Given the description of an element on the screen output the (x, y) to click on. 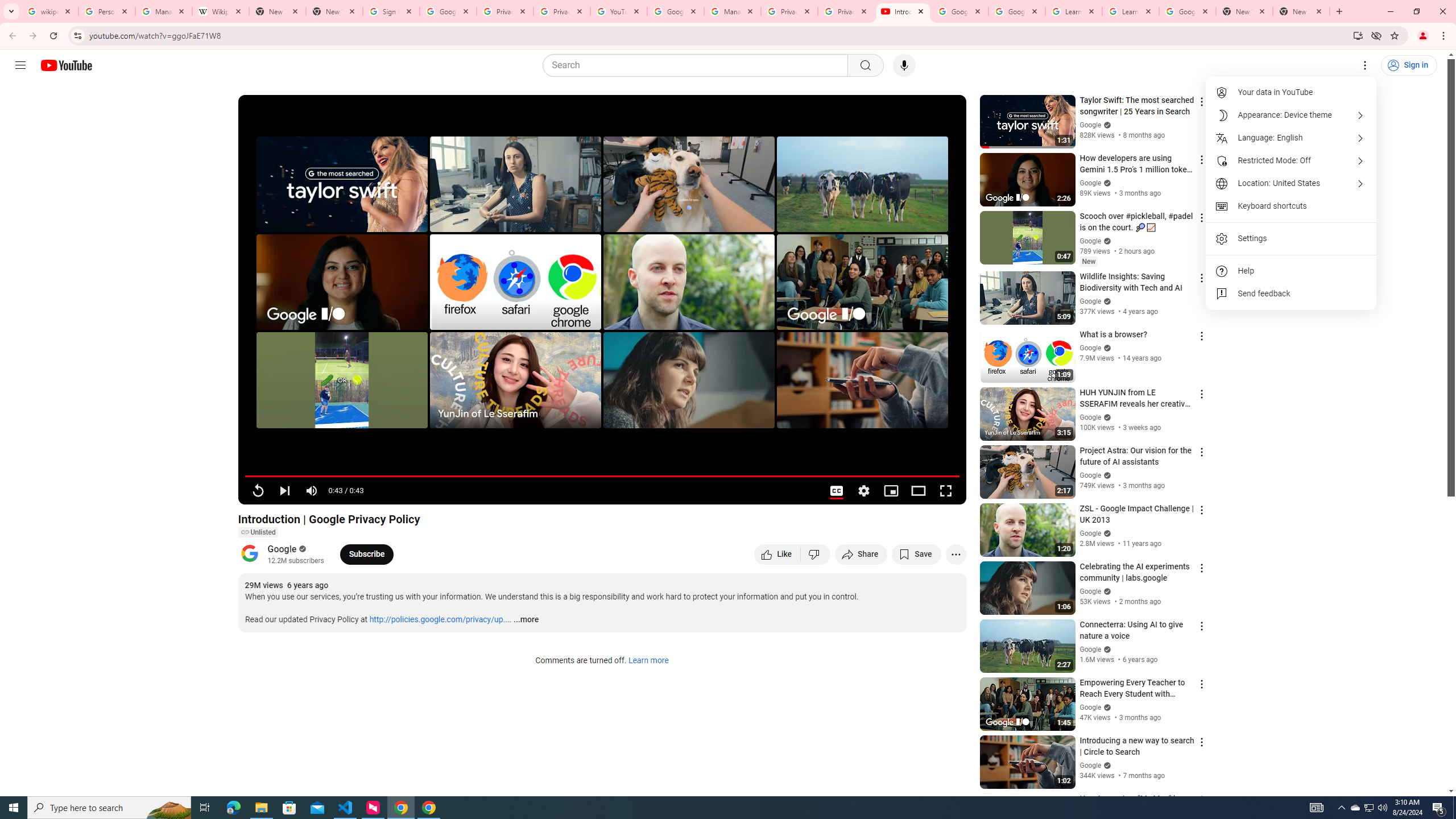
Google Drive: Sign-in (447, 11)
Introduction | Google Privacy Policy - YouTube (902, 11)
Share (861, 554)
Subtitles/closed captions unavailable (836, 490)
Language: English (1291, 137)
